Given the description of an element on the screen output the (x, y) to click on. 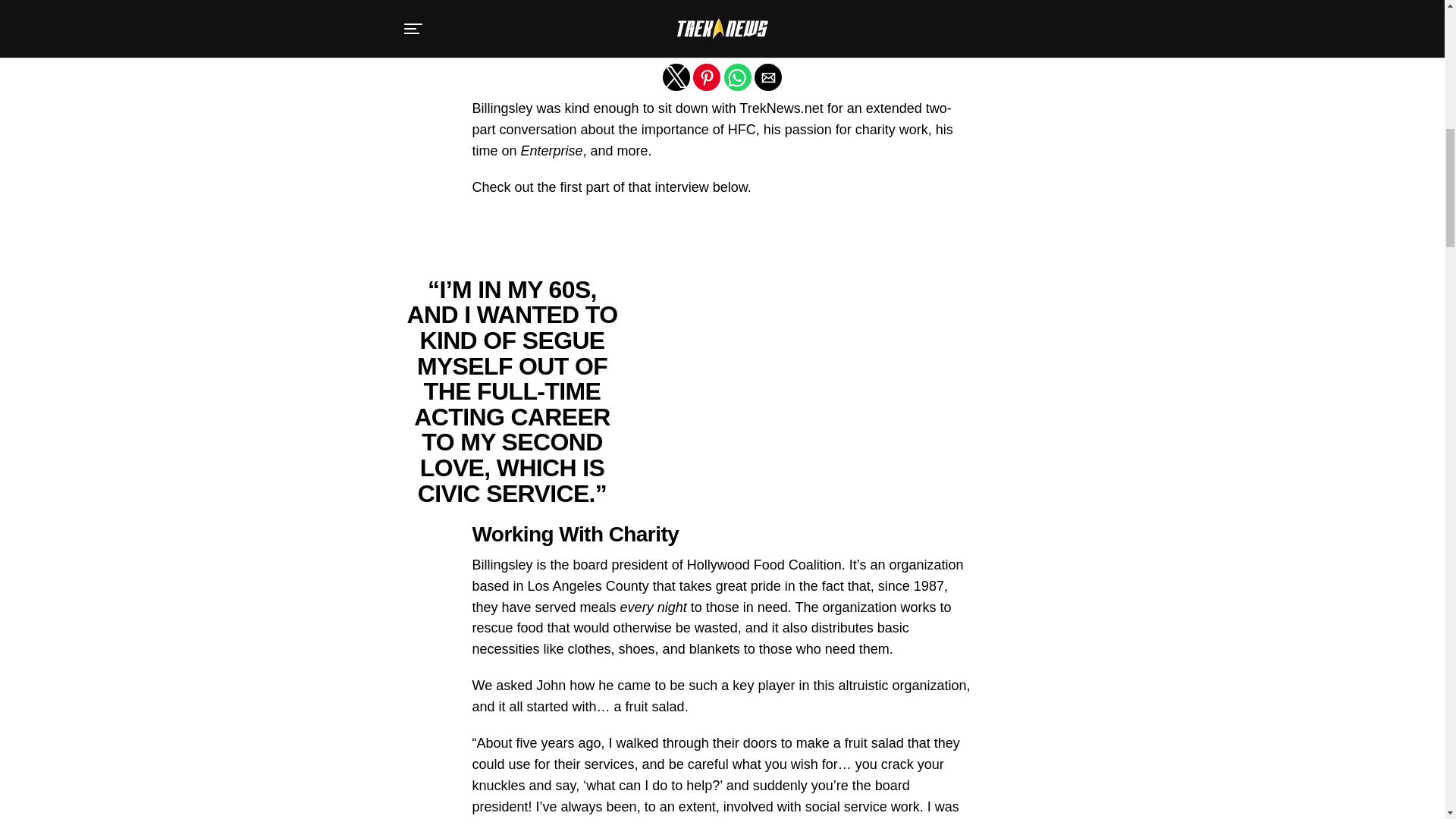
Hollywood Food Coalition (714, 8)
Roddenberry Podcasts (700, 29)
TrekGeeks (566, 29)
